Given the description of an element on the screen output the (x, y) to click on. 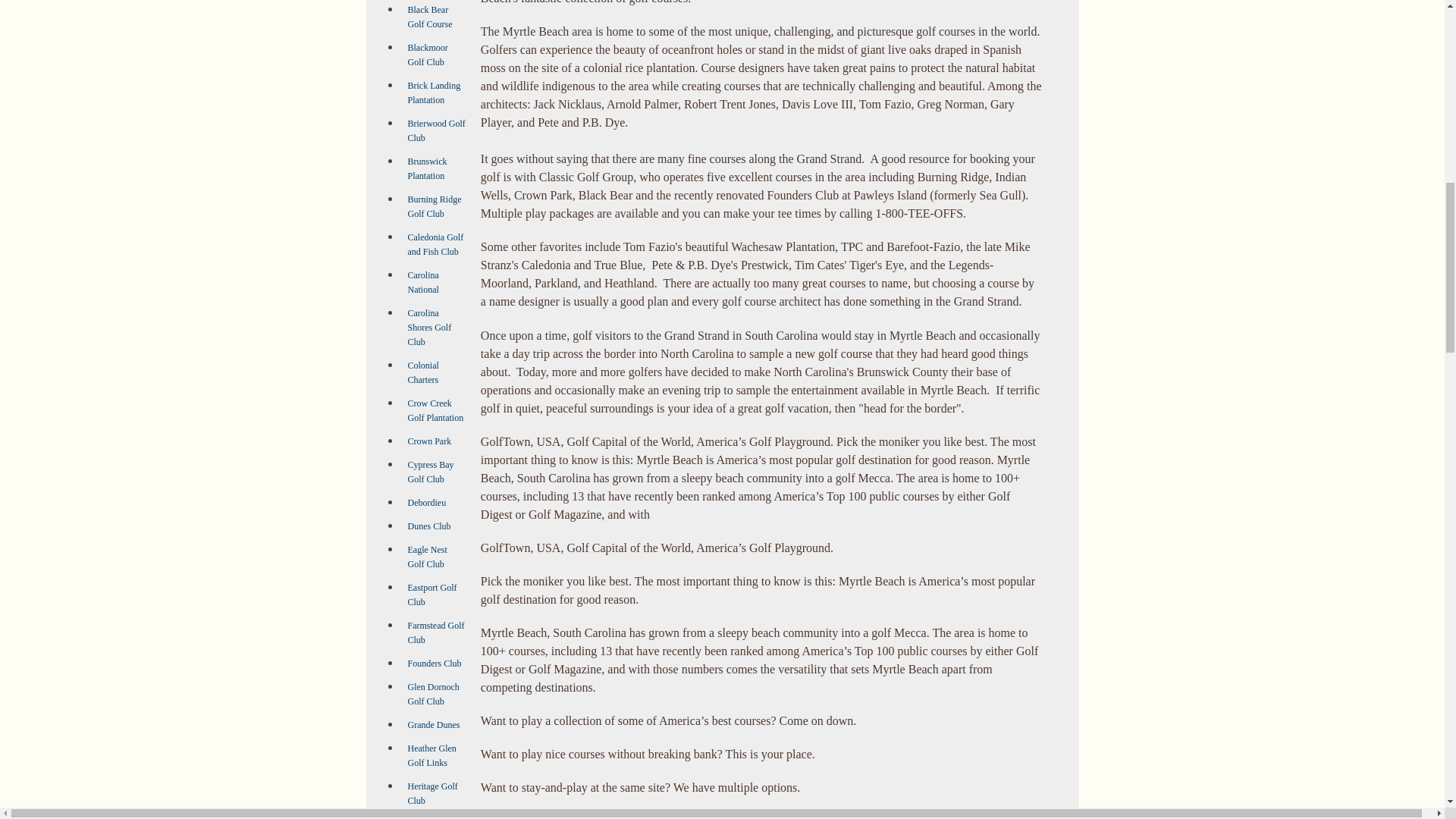
Brierwood Golf Club (436, 130)
Brick Landing Plantation (434, 92)
Blackmoor Golf Club (427, 54)
Black Bear Golf Course (429, 16)
Brunswick Plantation (426, 168)
